Given the description of an element on the screen output the (x, y) to click on. 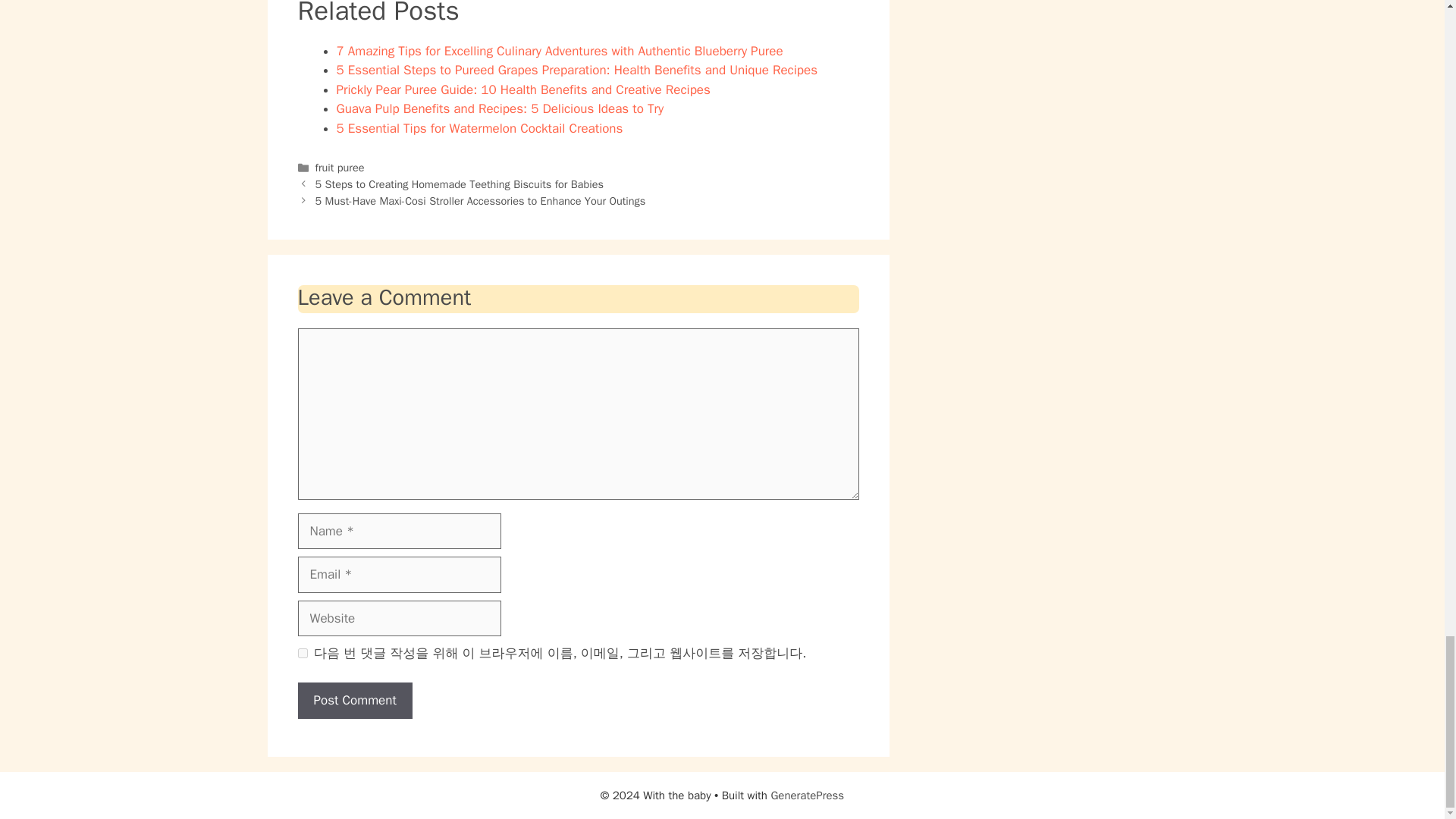
Post Comment (354, 700)
Post Comment (354, 700)
fruit puree (340, 167)
Guava Pulp Benefits and Recipes: 5 Delicious Ideas to Try (499, 108)
5 Steps to Creating Homemade Teething Biscuits for Babies (459, 183)
yes (302, 653)
5 Essential Tips for Watermelon Cocktail Creations (479, 128)
